Given the description of an element on the screen output the (x, y) to click on. 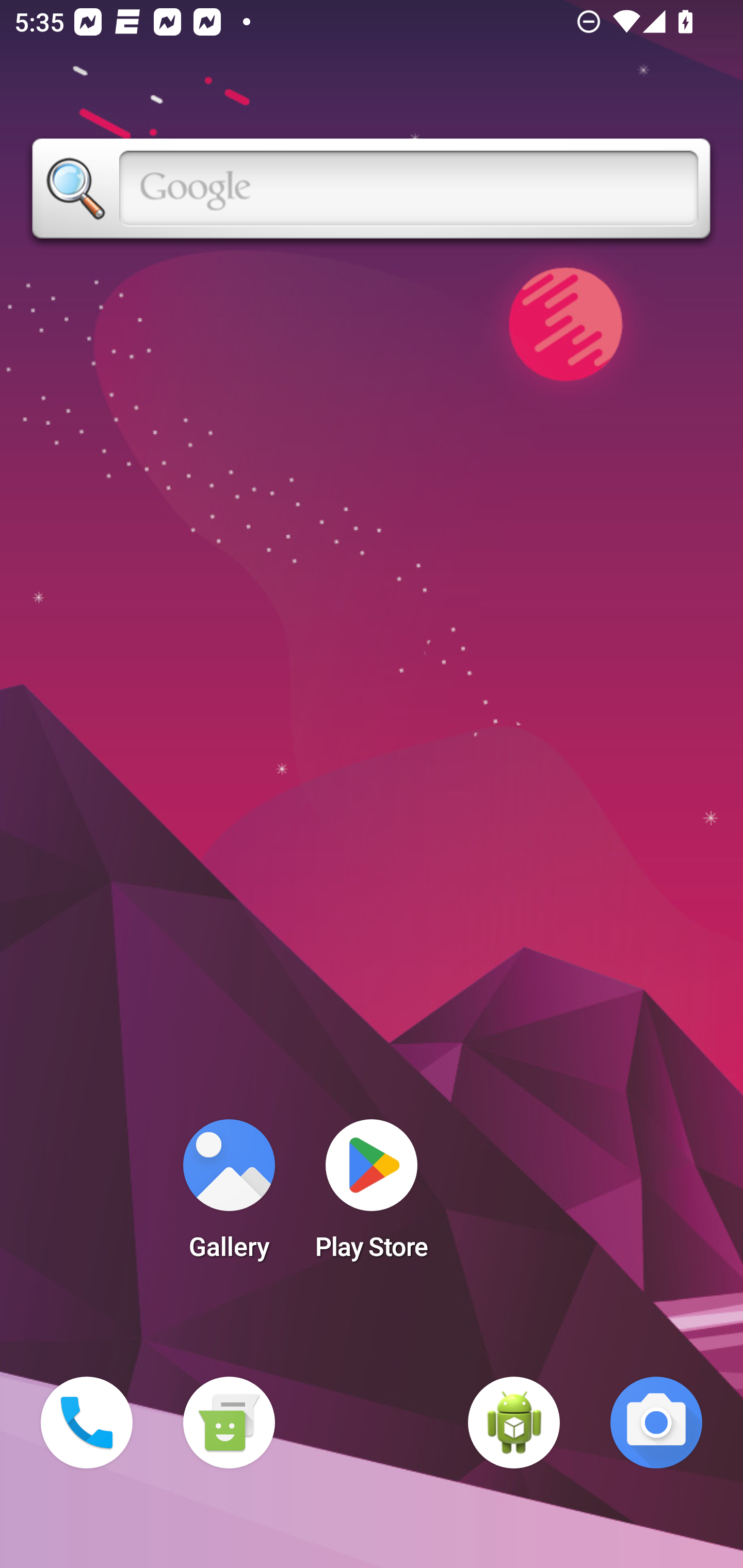
Gallery (228, 1195)
Play Store (371, 1195)
Phone (86, 1422)
Messaging (228, 1422)
WebView Browser Tester (513, 1422)
Camera (656, 1422)
